Given the description of an element on the screen output the (x, y) to click on. 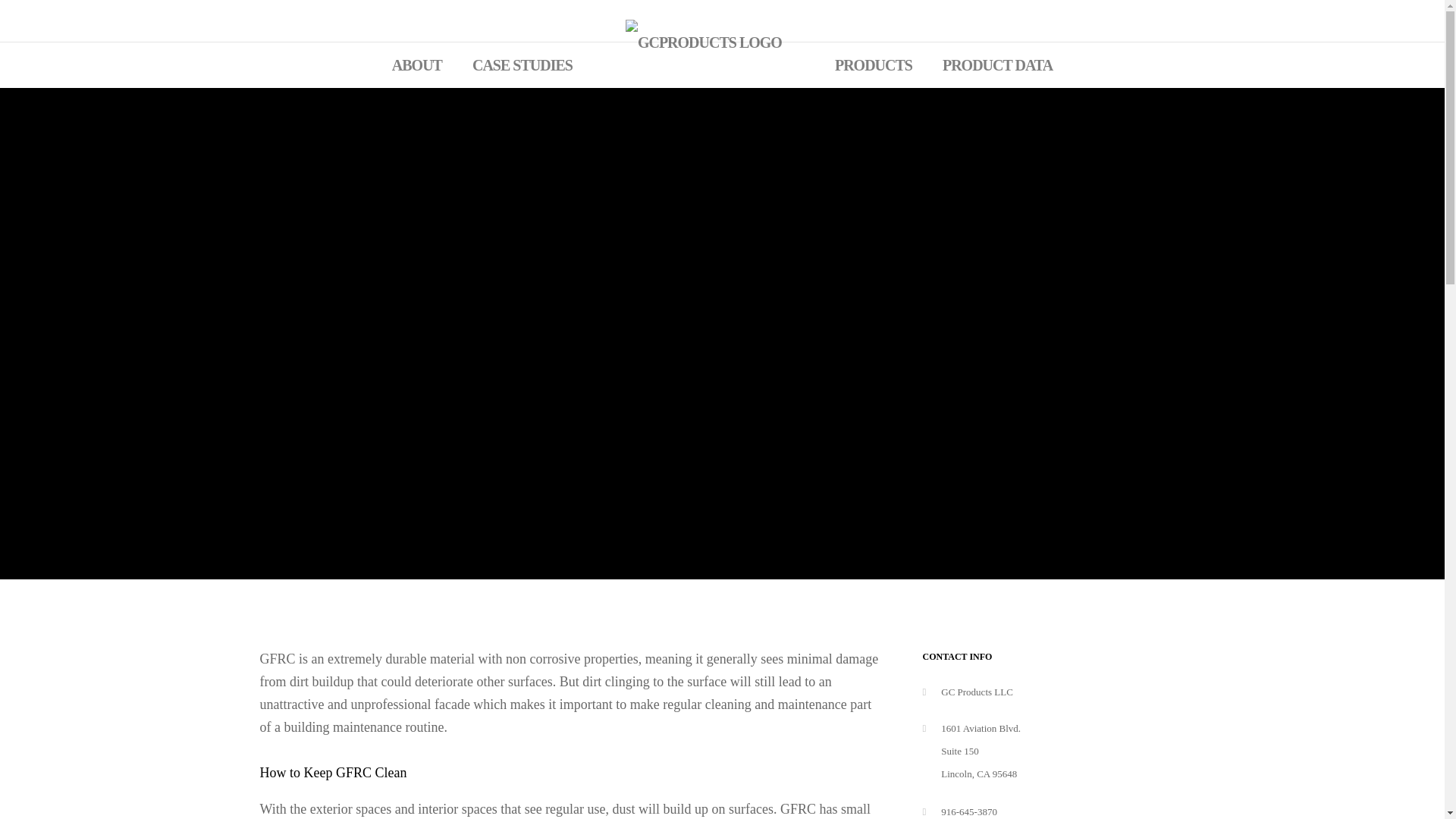
ABOUT (417, 64)
PRODUCTS (873, 64)
CASE STUDIES (522, 64)
